Given the description of an element on the screen output the (x, y) to click on. 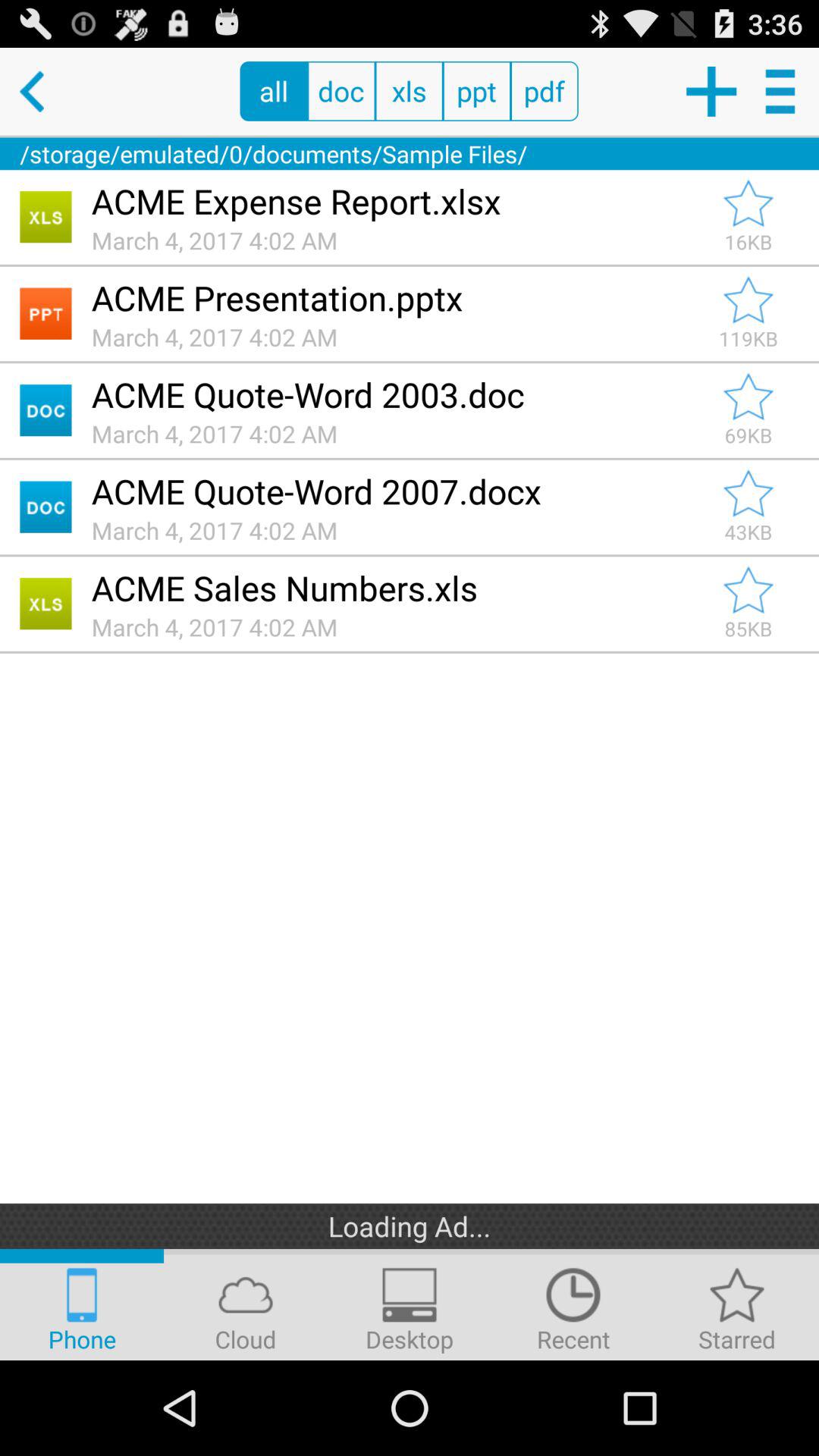
choose item next to the pdf radio button (710, 91)
